Given the description of an element on the screen output the (x, y) to click on. 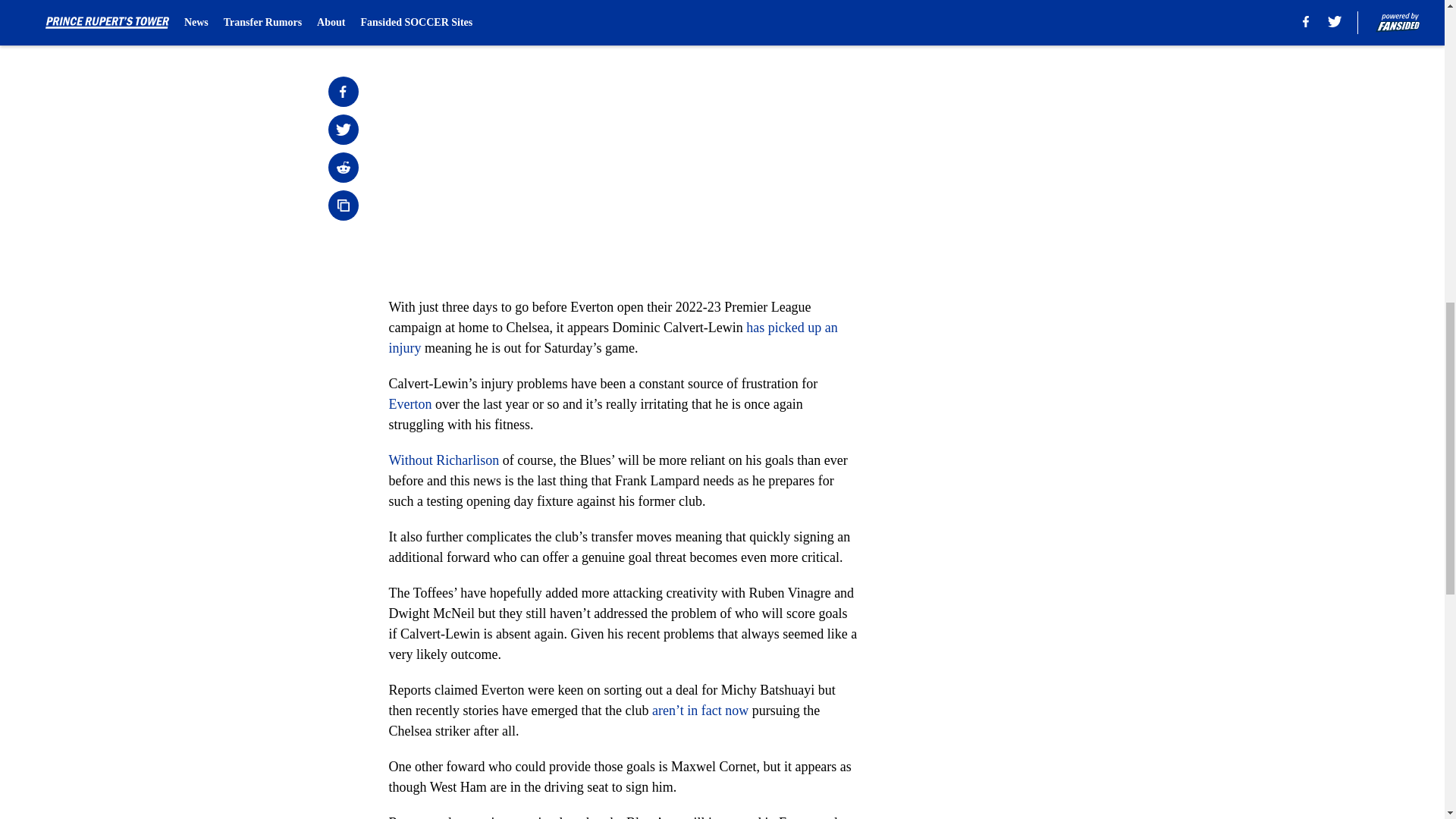
Without Richarlison (443, 459)
Everton (409, 403)
has picked up an injury (612, 337)
